Given the description of an element on the screen output the (x, y) to click on. 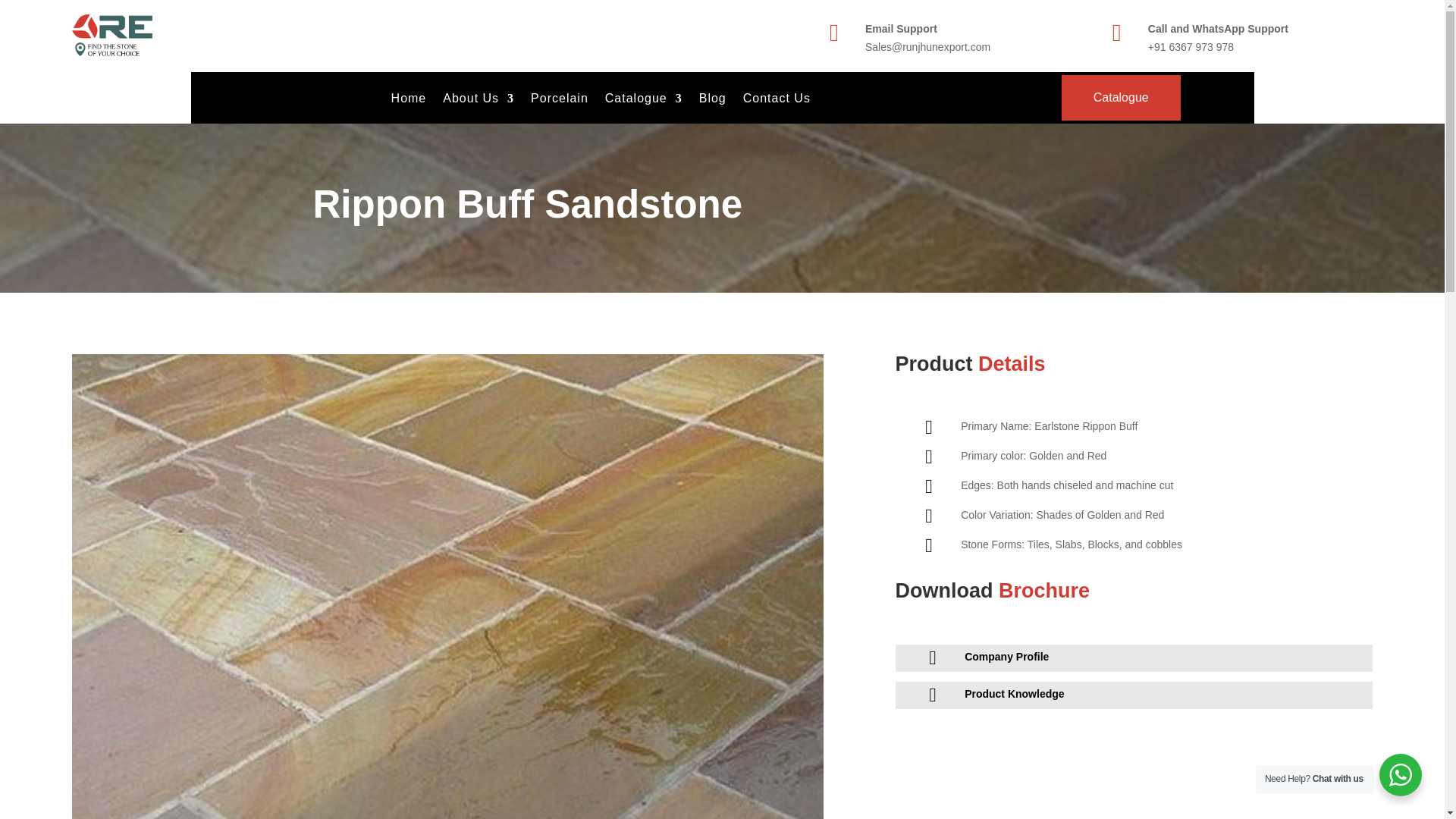
Catalogue (643, 101)
Porcelain (559, 101)
Runjhun export logo  (111, 36)
About Us (477, 101)
Home (408, 101)
